Given the description of an element on the screen output the (x, y) to click on. 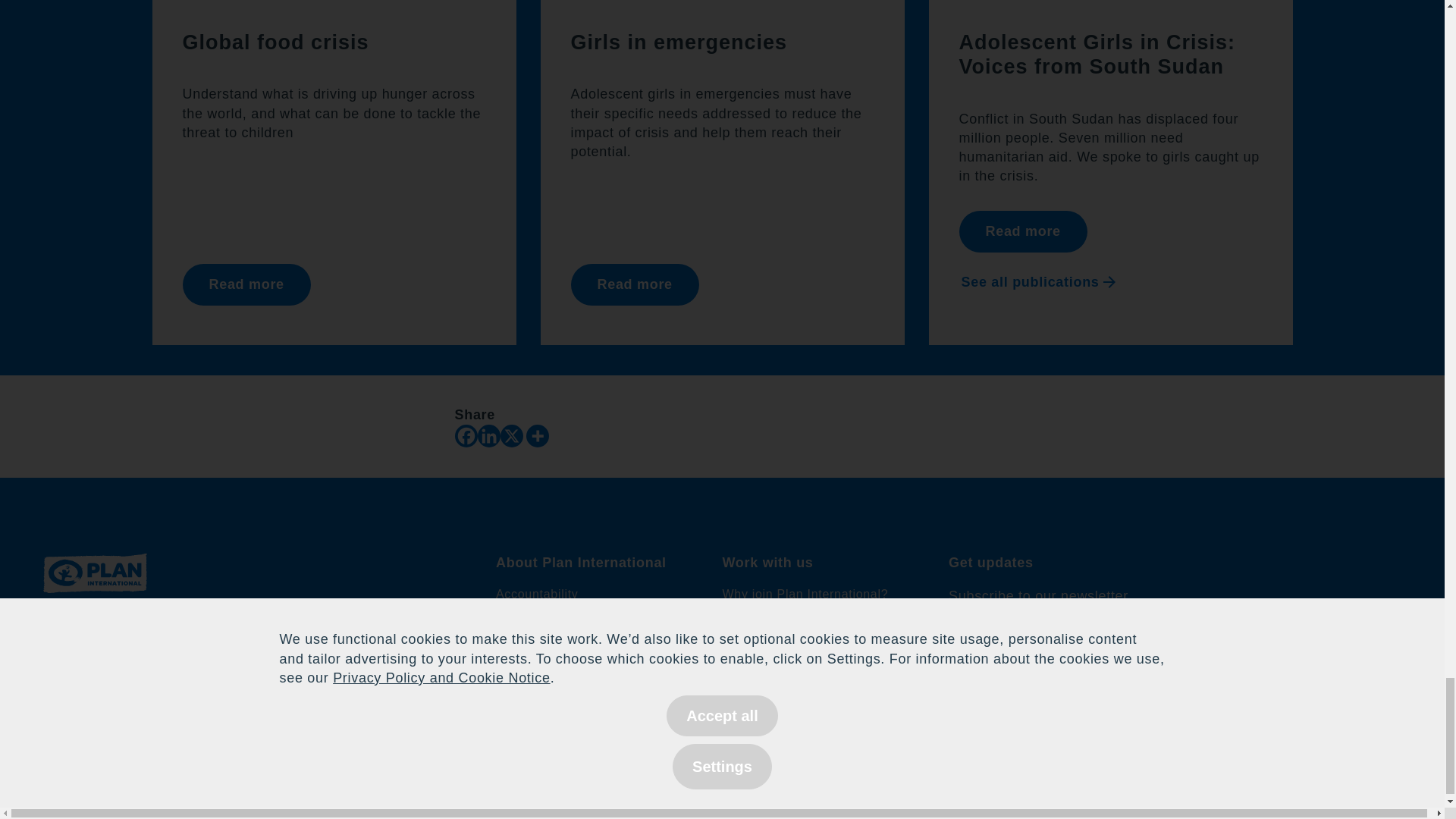
Subscribe (1174, 693)
Facebook (465, 436)
More (536, 436)
Linkedin (488, 436)
X (511, 436)
Plan International (95, 604)
